Given the description of an element on the screen output the (x, y) to click on. 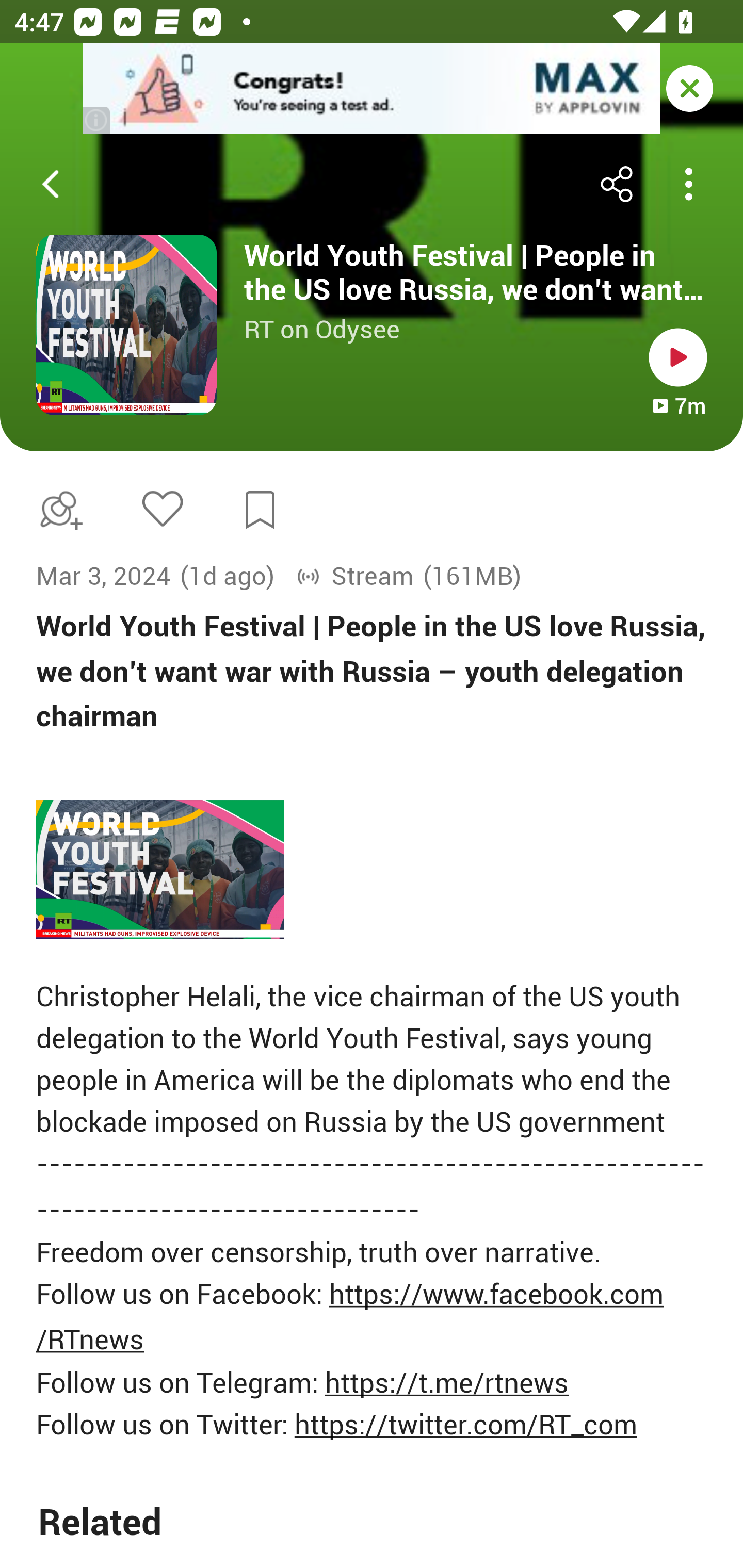
app-monetization (371, 88)
(i) (96, 119)
Back (50, 184)
Open series (126, 325)
Play button (677, 357)
Like (161, 507)
Add episode to Play Later (57, 509)
New bookmark … (259, 510)
Stream (354, 576)
